Given the description of an element on the screen output the (x, y) to click on. 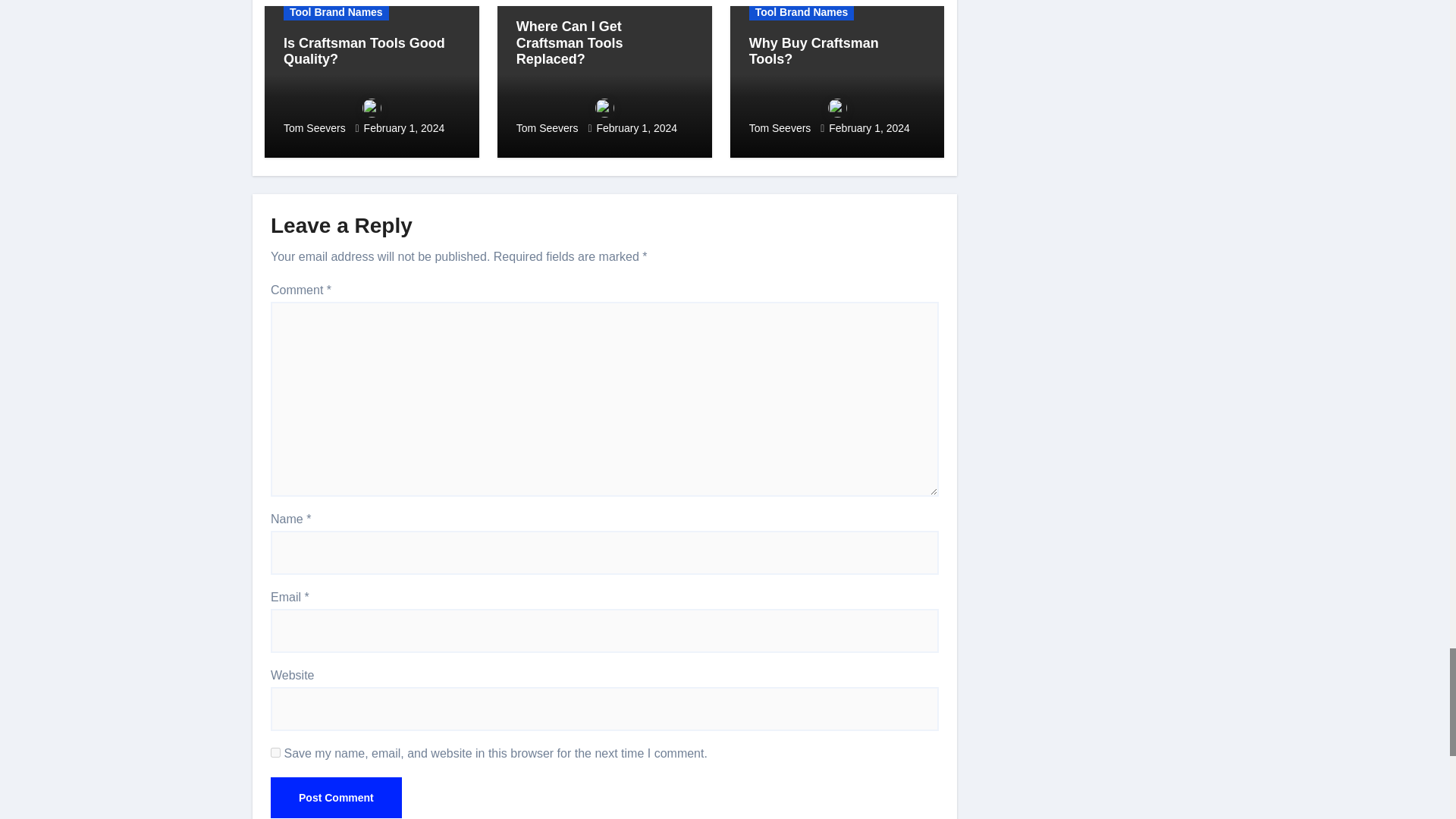
Where Can I Get Craftsman Tools Replaced? (569, 42)
Post Comment (335, 797)
Permalink to: Why Buy Craftsman Tools? (814, 51)
Permalink to: Is Craftsman Tools Good Quality? (364, 51)
yes (275, 752)
Tom Seevers (371, 116)
Permalink to: Where Can I Get Craftsman Tools Replaced? (569, 42)
Is Craftsman Tools Good Quality? (364, 51)
Tool Brand Names (335, 12)
February 1, 2024 (404, 128)
